Given the description of an element on the screen output the (x, y) to click on. 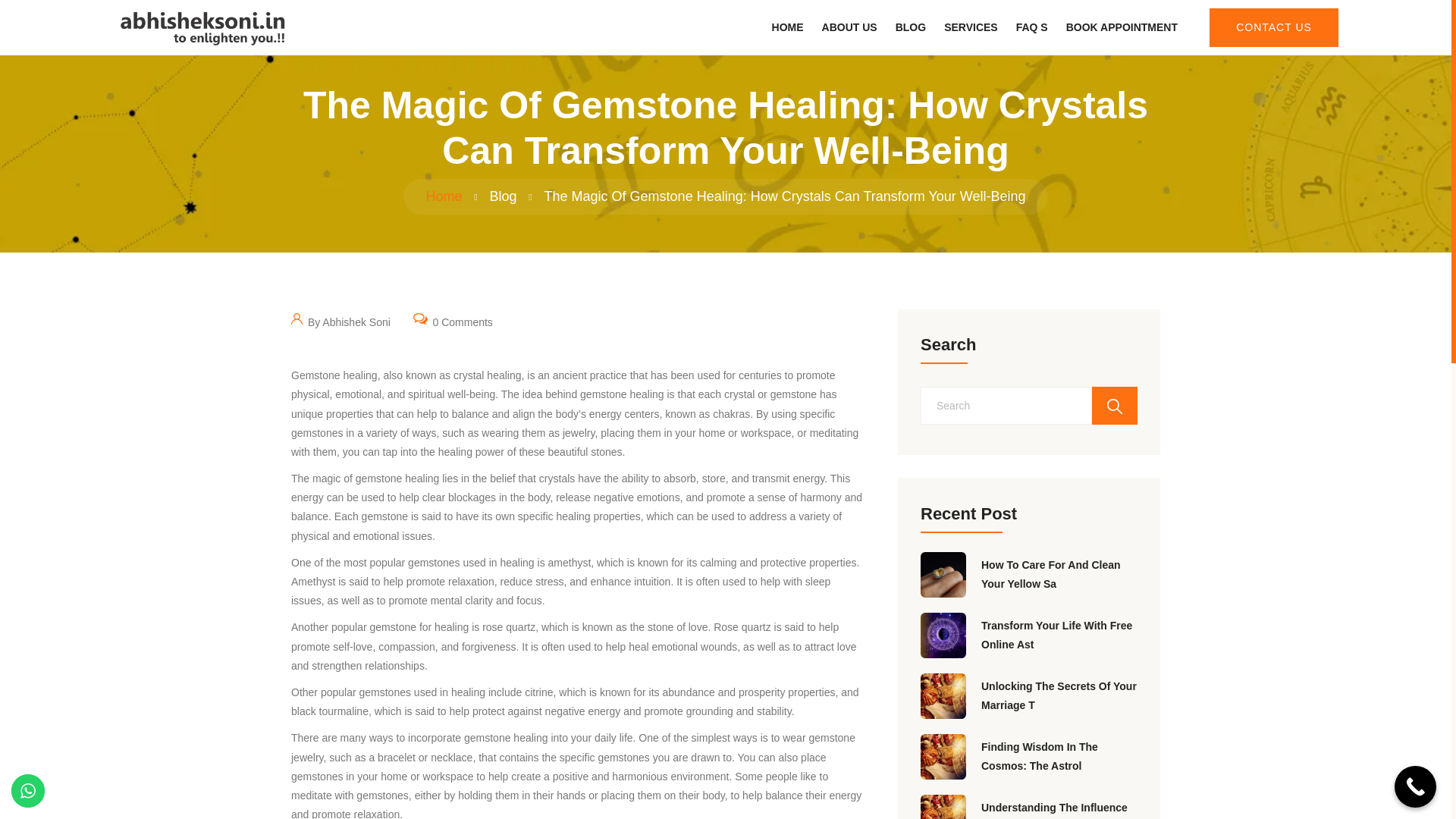
FAQ S (1032, 27)
How To Care For And Clean Your Yellow Sa (1059, 574)
Unlocking The Secrets Of Your Marriage T (1059, 695)
BOOK APPOINTMENT (1121, 27)
BLOG (910, 27)
Transform Your Life With Free Online Ast (1059, 635)
Finding Wisdom In The Cosmos: The Astrol (1059, 756)
SERVICES (970, 27)
By Abhishek Soni (340, 320)
HOME (787, 27)
0 Comments (453, 320)
CONTACT US (1273, 27)
Home (444, 196)
ABOUT US (849, 27)
Understanding The Influence Of Saturn In (1059, 808)
